Given the description of an element on the screen output the (x, y) to click on. 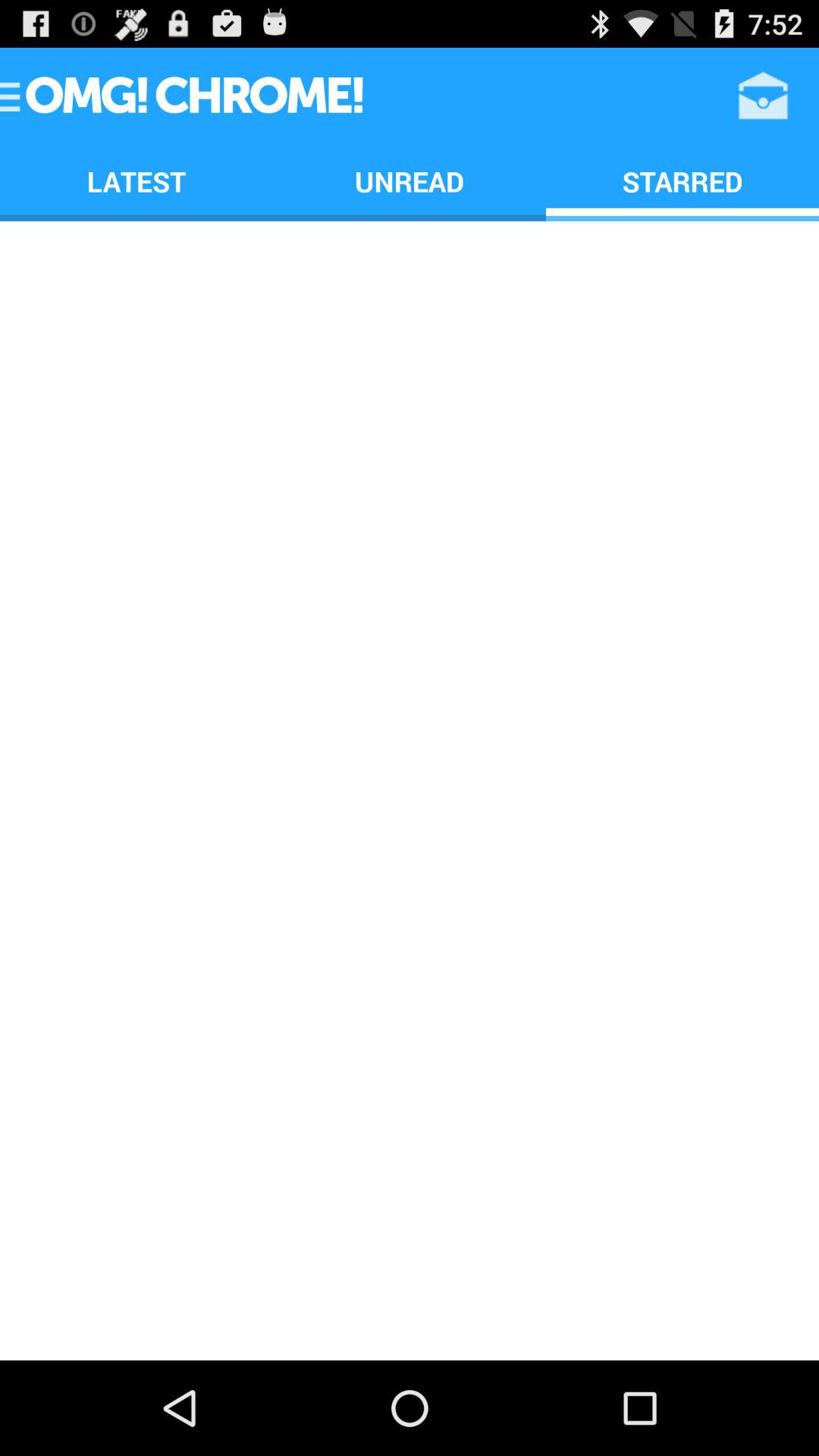
choose app to the left of starred app (409, 181)
